Given the description of an element on the screen output the (x, y) to click on. 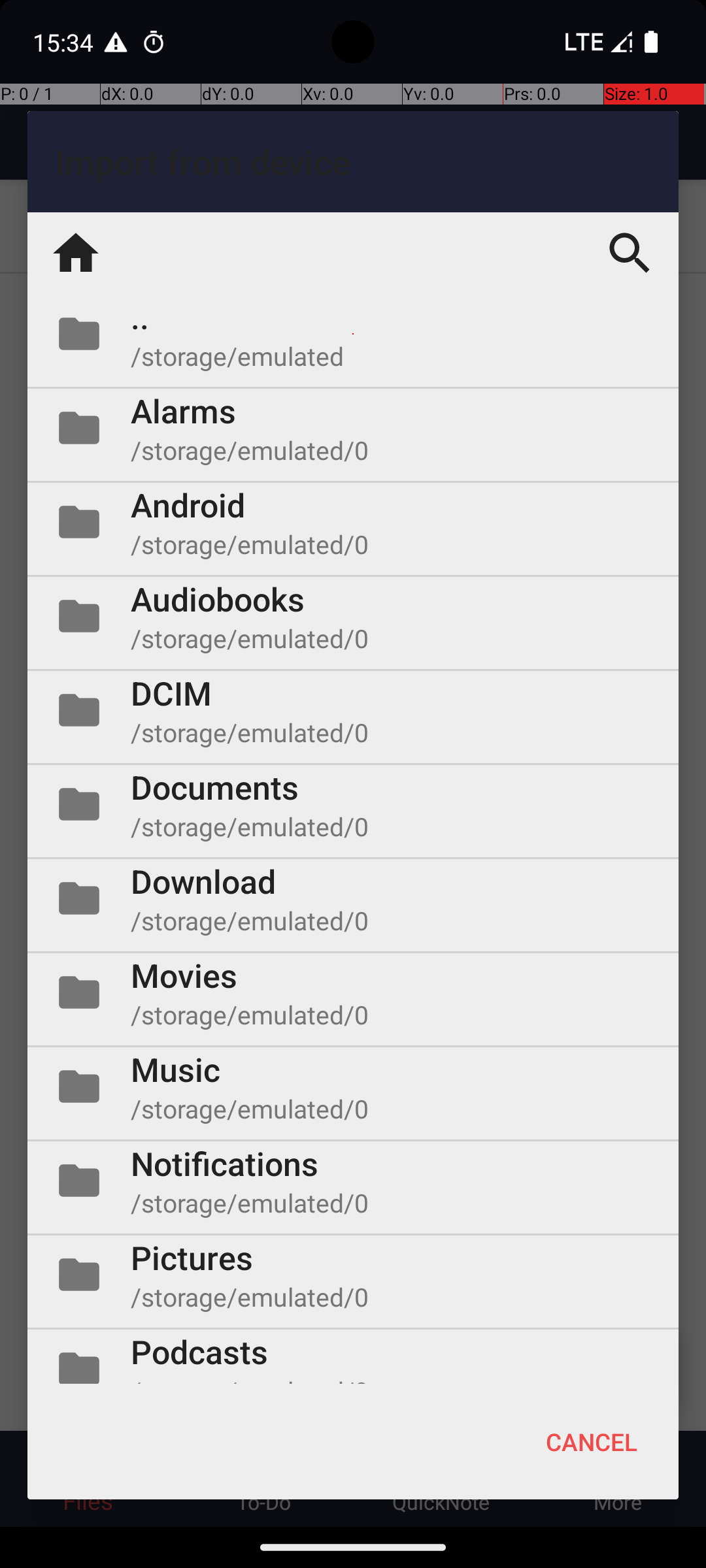
Import from device Element type: android.widget.TextView (352, 161)
Folder .. /storage/emulated/0 Element type: android.widget.LinearLayout (352, 333)
Folder Alarms /storage/emulated/0/Documents Element type: android.widget.LinearLayout (352, 427)
Folder Android /storage/emulated/0 Element type: android.widget.LinearLayout (352, 521)
Folder Audiobooks /storage/emulated/0 Element type: android.widget.LinearLayout (352, 615)
Folder DCIM /storage/emulated/0 Element type: android.widget.LinearLayout (352, 709)
Folder Documents  Element type: android.widget.LinearLayout (352, 804)
Folder Download  Element type: android.widget.LinearLayout (352, 898)
Folder Movies  Element type: android.widget.LinearLayout (352, 992)
Folder Music  Element type: android.widget.LinearLayout (352, 1086)
Folder Notifications  Element type: android.widget.LinearLayout (352, 1180)
Folder Pictures  Element type: android.widget.LinearLayout (352, 1274)
Folder Podcasts  Element type: android.widget.LinearLayout (352, 1356)
